Given the description of an element on the screen output the (x, y) to click on. 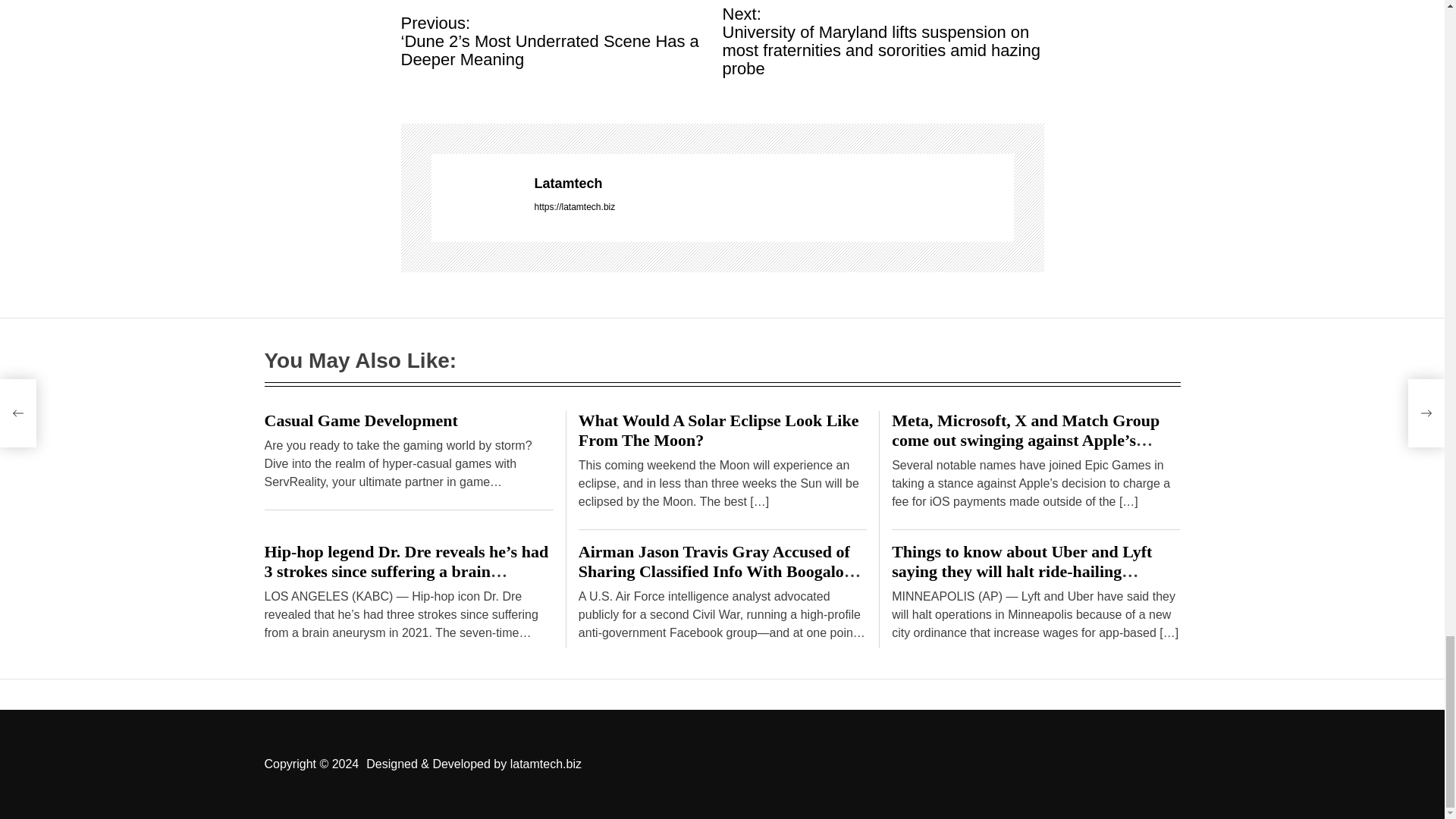
Latamtech (773, 183)
Casual Game Development (360, 420)
Latamtech (773, 183)
What Would A Solar Eclipse Look Like From The Moon? (718, 430)
